Given the description of an element on the screen output the (x, y) to click on. 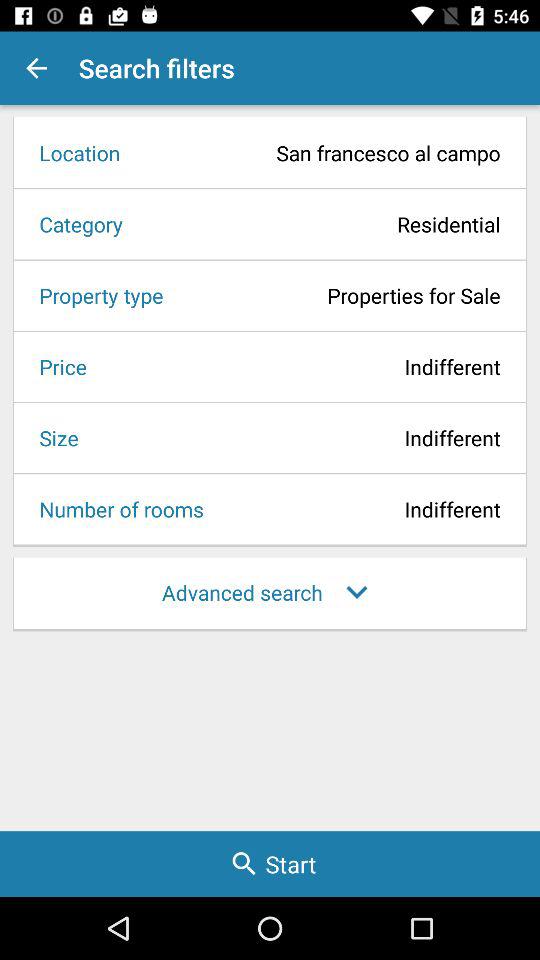
tap the item below the size (115, 509)
